Given the description of an element on the screen output the (x, y) to click on. 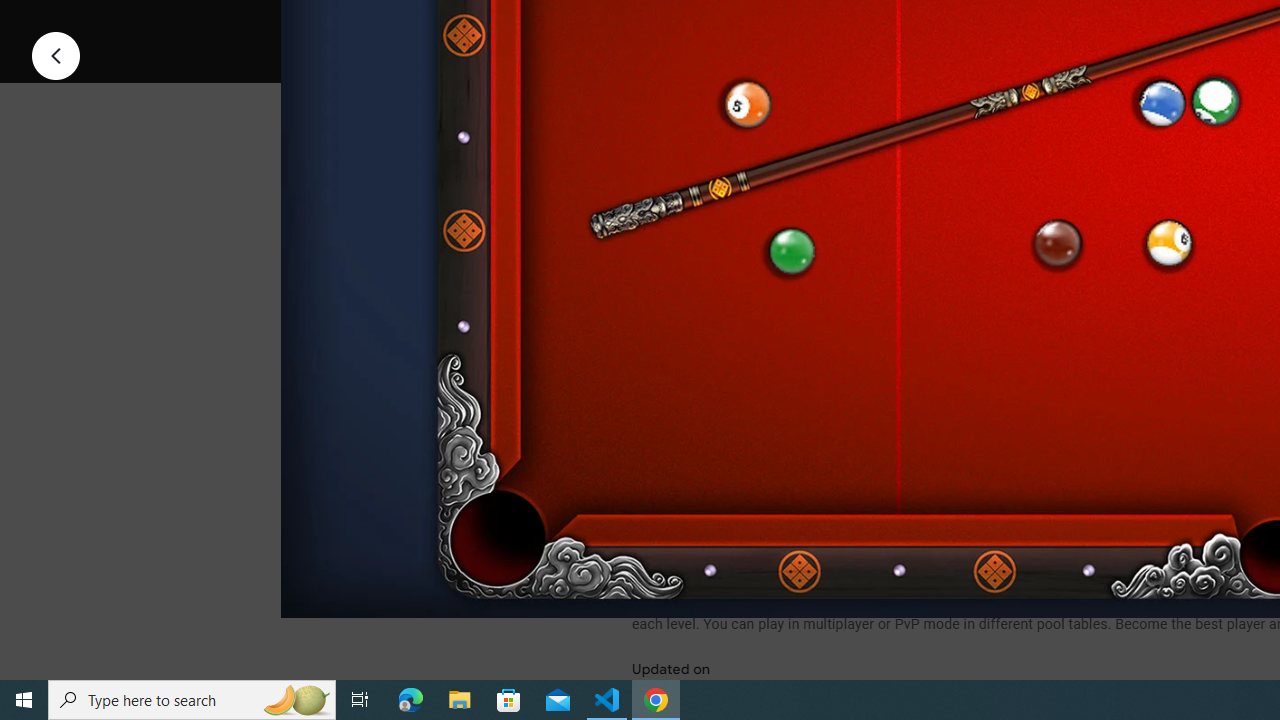
Share (890, 24)
Add to wishlist (1014, 24)
See more information on About this game (830, 477)
Install (732, 24)
Screenshot image (895, 271)
Previous (55, 54)
